Given the description of an element on the screen output the (x, y) to click on. 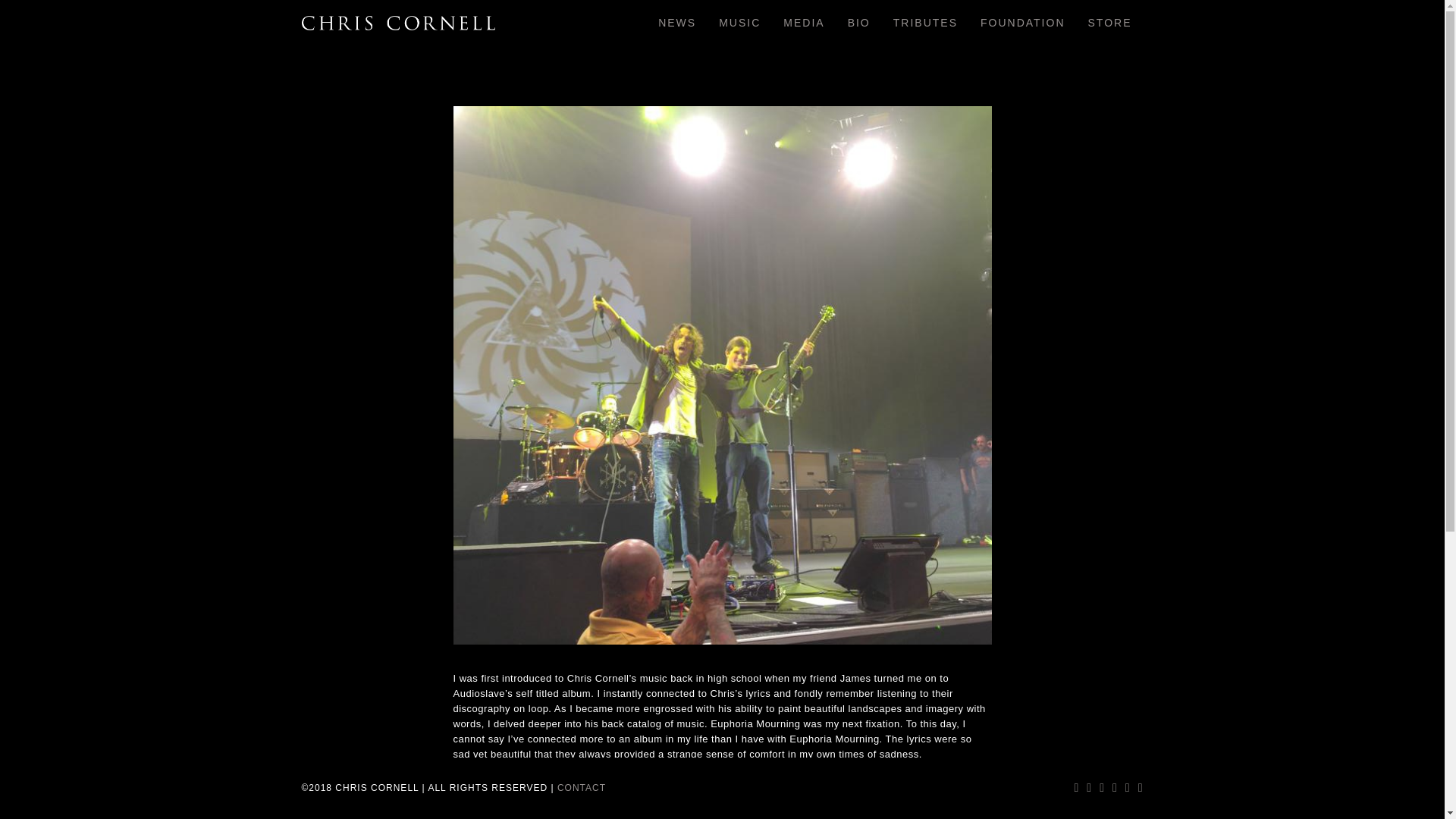
MEDIA (803, 22)
NEWS (676, 22)
STORE (1109, 22)
MUSIC (739, 22)
CONTACT (581, 787)
TRIBUTES (925, 22)
FOUNDATION (1023, 22)
BIO (858, 22)
